Given the description of an element on the screen output the (x, y) to click on. 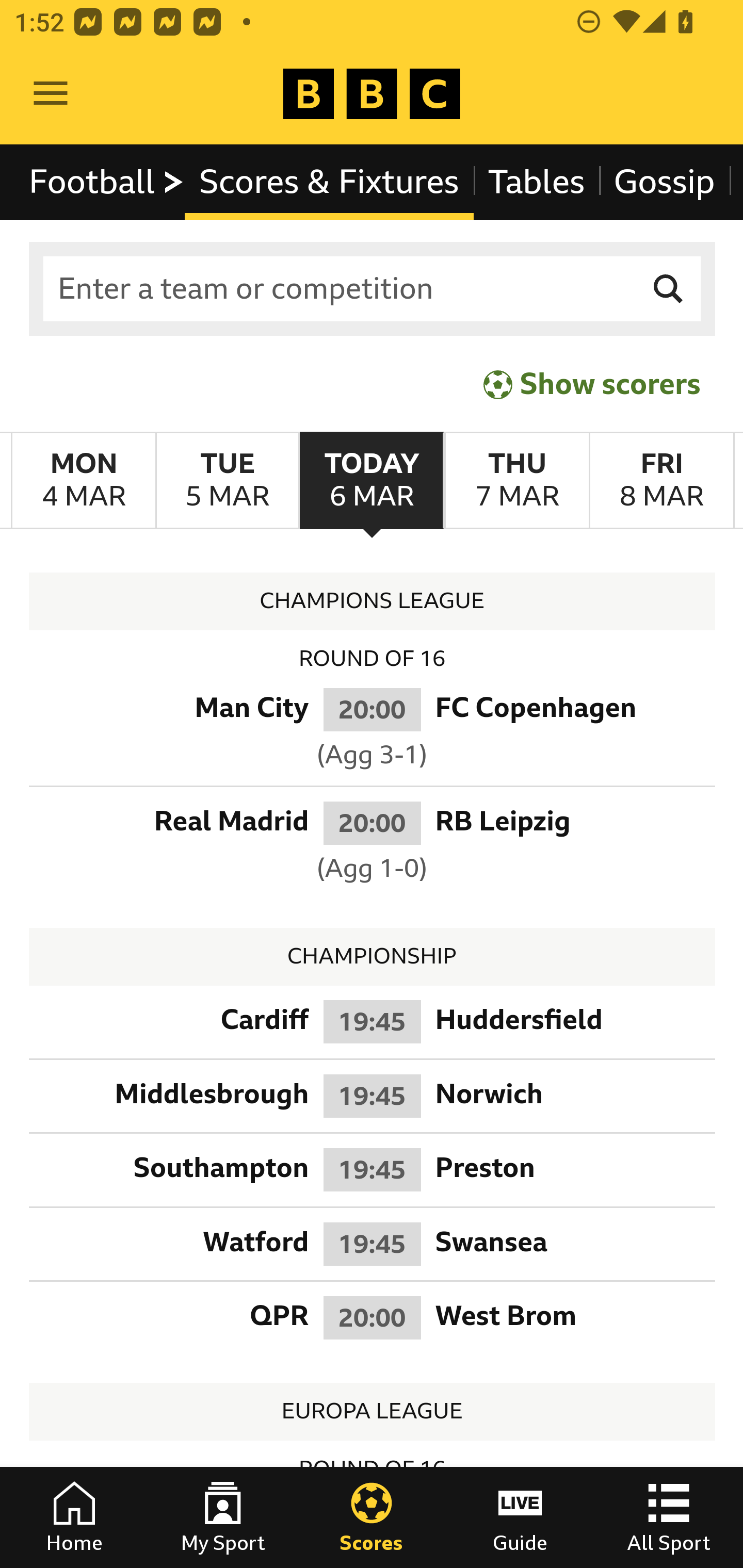
Open Menu (50, 93)
Football  (106, 181)
Scores & Fixtures (329, 181)
Tables (536, 181)
Gossip (664, 181)
Search (669, 289)
Show scorers (591, 383)
MondayMarch 4th Monday March 4th (83, 480)
TuesdayMarch 5th Tuesday March 5th (227, 480)
ThursdayMarch 7th Thursday March 7th (516, 480)
FridayMarch 8th Friday March 8th (661, 480)
Home (74, 1517)
My Sport (222, 1517)
Guide (519, 1517)
All Sport (668, 1517)
